Given the description of an element on the screen output the (x, y) to click on. 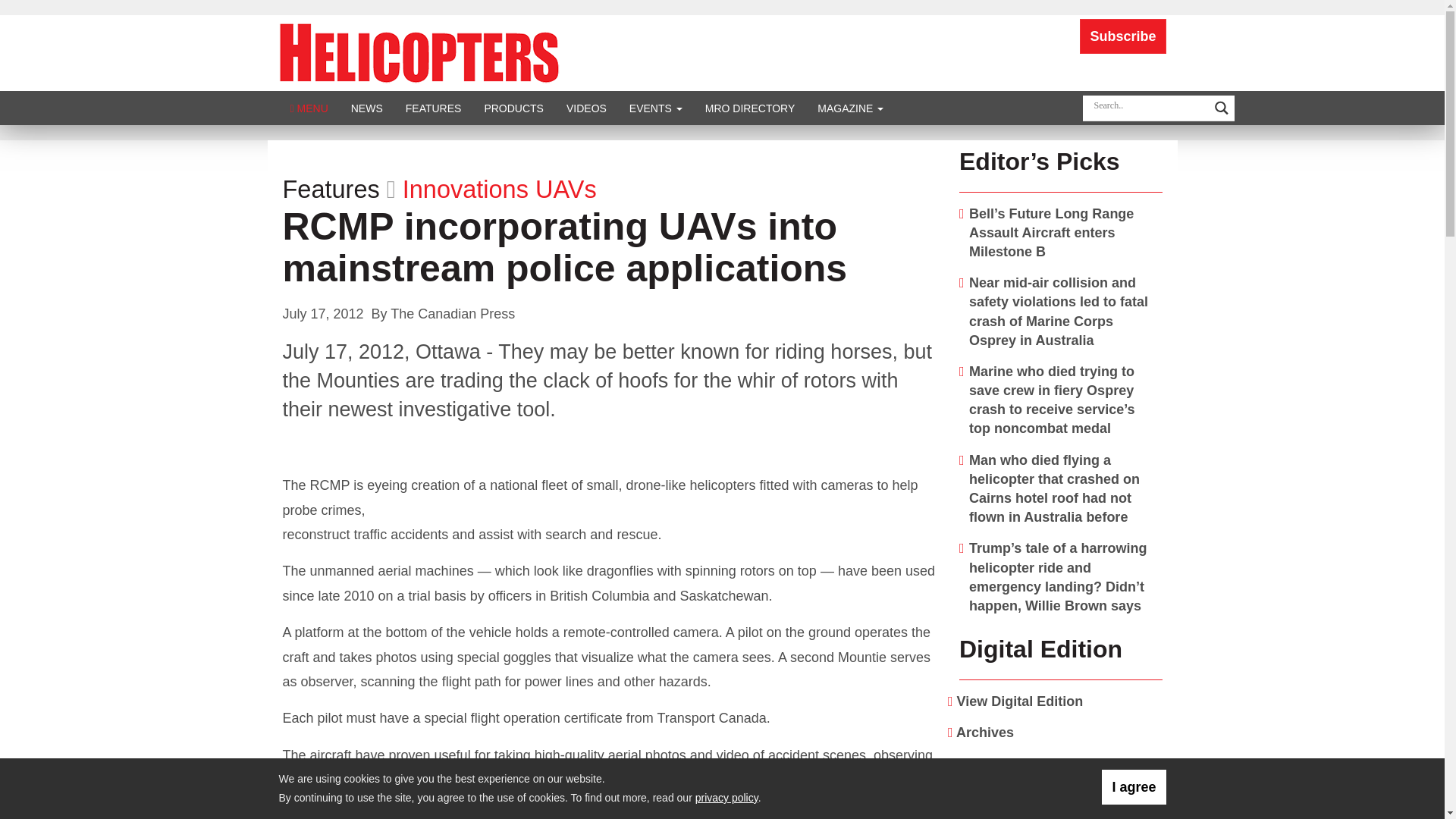
Click to show site navigation (309, 107)
PRODUCTS (512, 107)
MENU (309, 107)
FEATURES (433, 107)
NEWS (366, 107)
MRO DIRECTORY (750, 107)
MAGAZINE (850, 107)
VIDEOS (585, 107)
Subscribe (1123, 36)
EVENTS (655, 107)
